Given the description of an element on the screen output the (x, y) to click on. 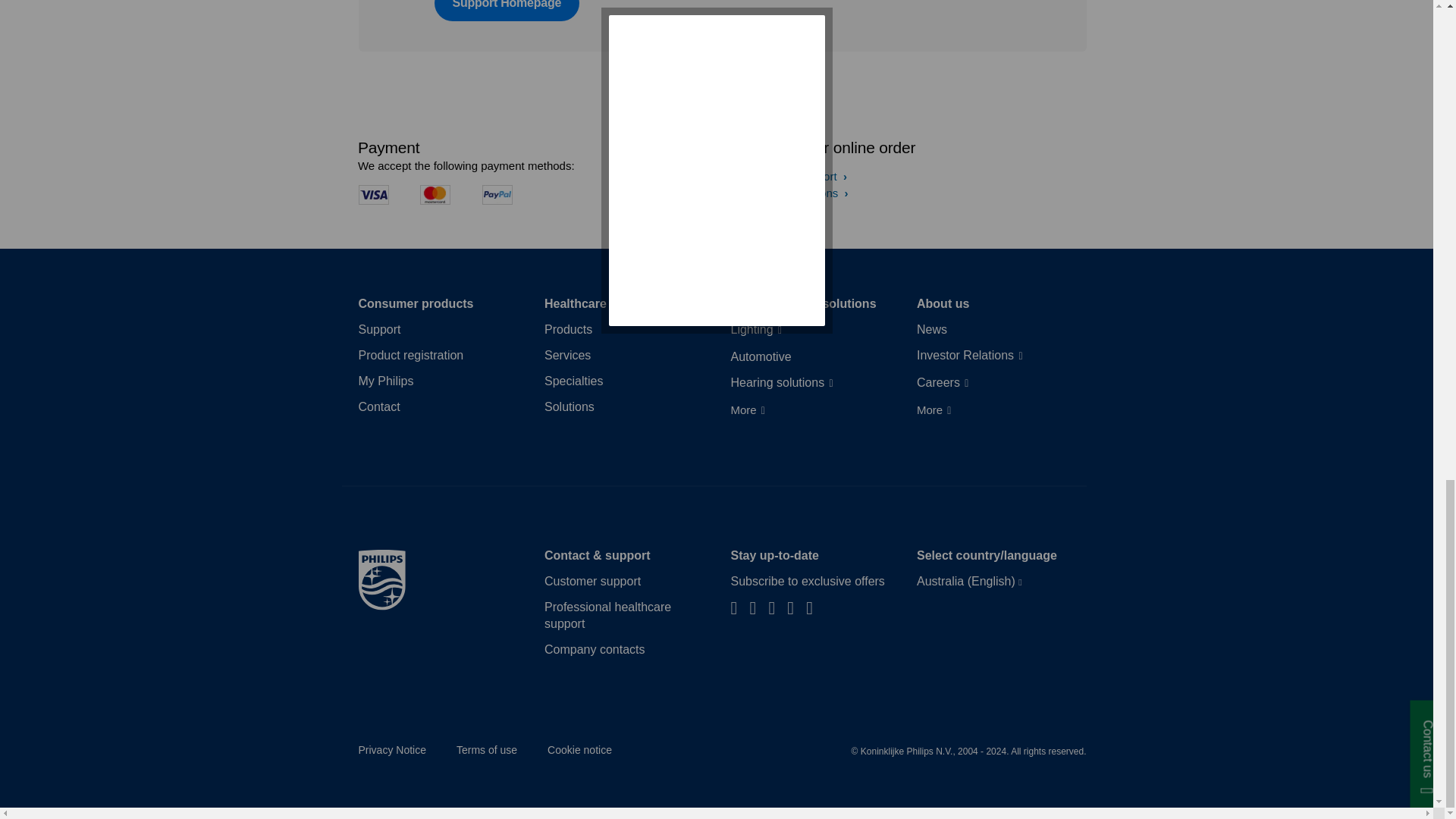
Services (567, 355)
Support (379, 329)
Contact (378, 406)
Consumer products (415, 303)
Specialties (573, 381)
Product registration (410, 355)
My Philips (385, 381)
Solutions (569, 406)
Products (568, 329)
Healthcare professionals (616, 303)
